Given the description of an element on the screen output the (x, y) to click on. 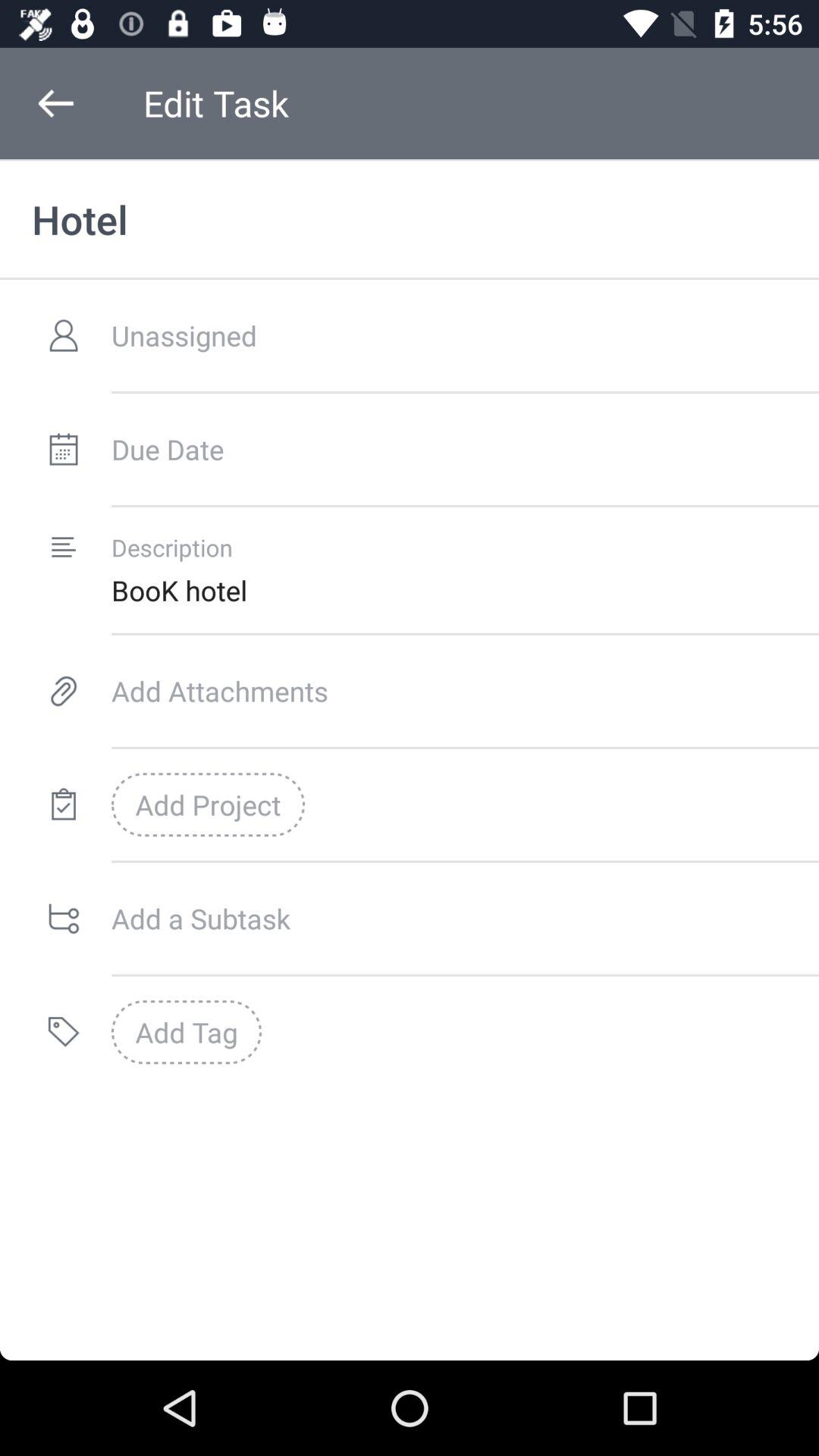
press the icon below the book hotel icon (465, 690)
